Given the description of an element on the screen output the (x, y) to click on. 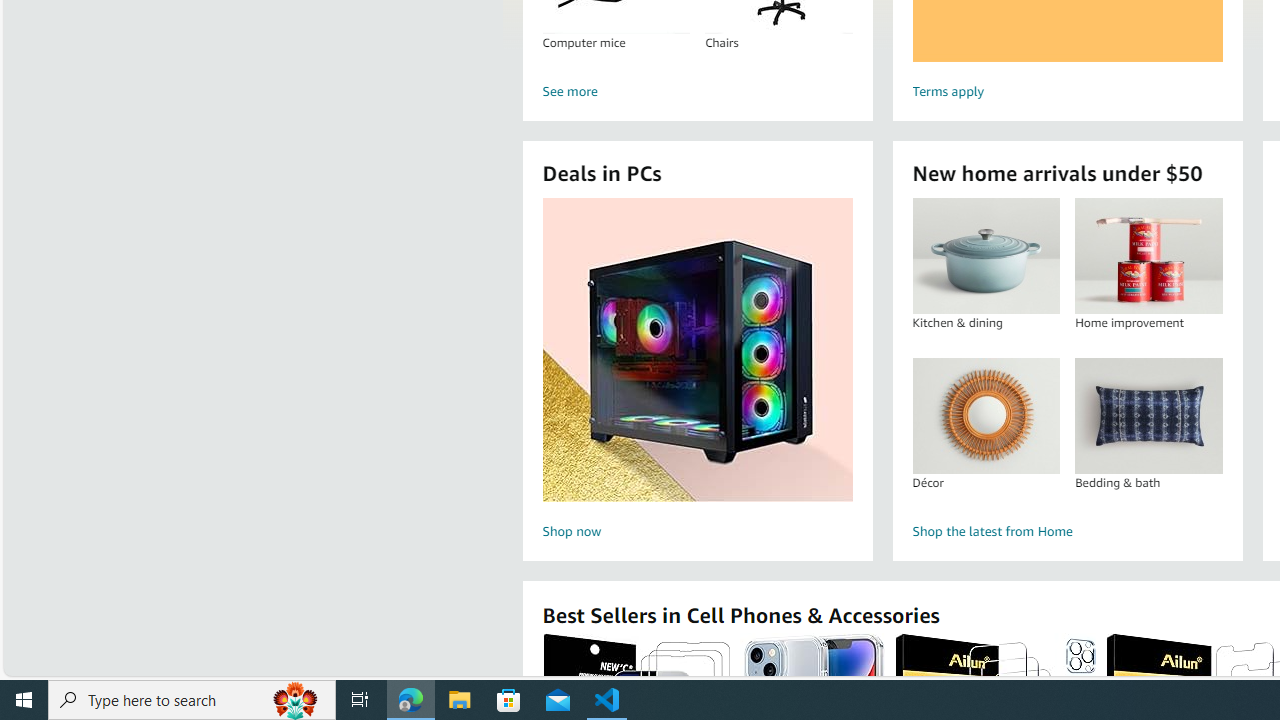
Kitchen & dining (985, 256)
Deals in PCs (697, 349)
Shop the latest from Home (1066, 532)
Home improvement (1148, 256)
Bedding & bath (1148, 415)
Bedding & bath (1148, 415)
Home improvement (1148, 256)
Deals in PCs Shop now (697, 371)
Kitchen & dining (986, 256)
